Given the description of an element on the screen output the (x, y) to click on. 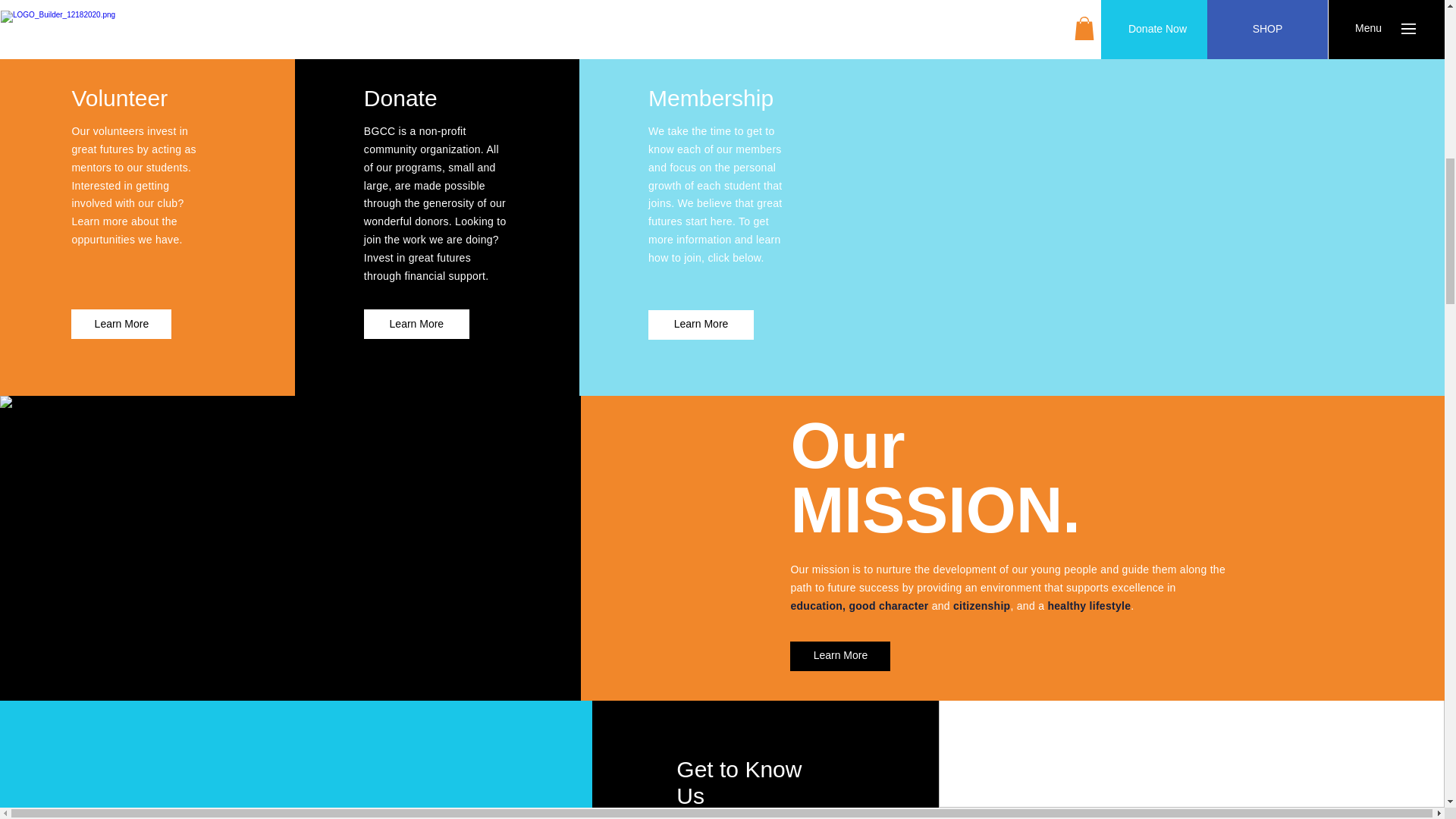
Learn More (839, 655)
Learn More (121, 324)
Learn More (700, 324)
Learn More (416, 324)
